Given the description of an element on the screen output the (x, y) to click on. 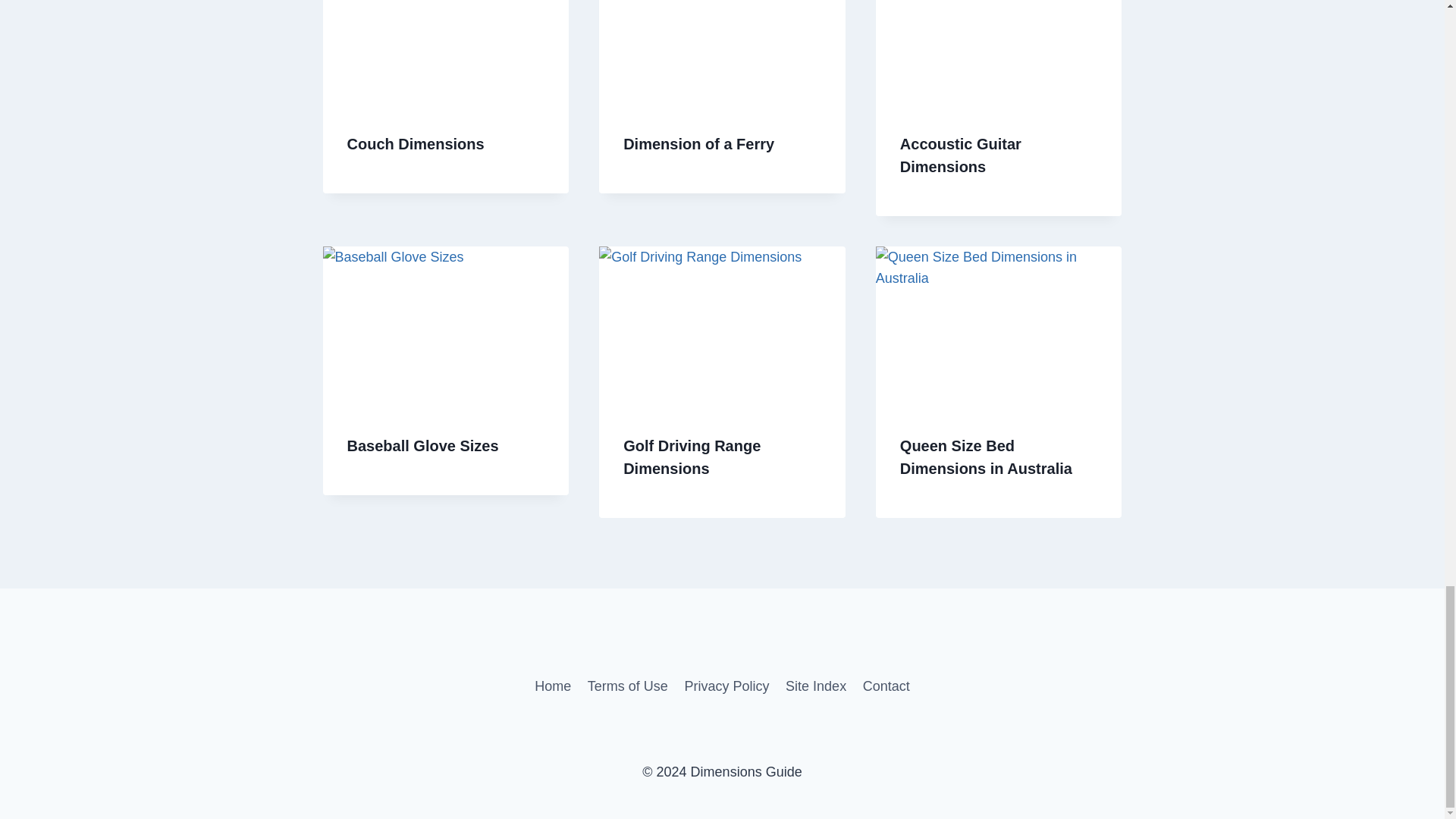
Dimension of a Ferry (698, 143)
Couch Dimensions (415, 143)
Accoustic Guitar Dimensions (960, 155)
